Given the description of an element on the screen output the (x, y) to click on. 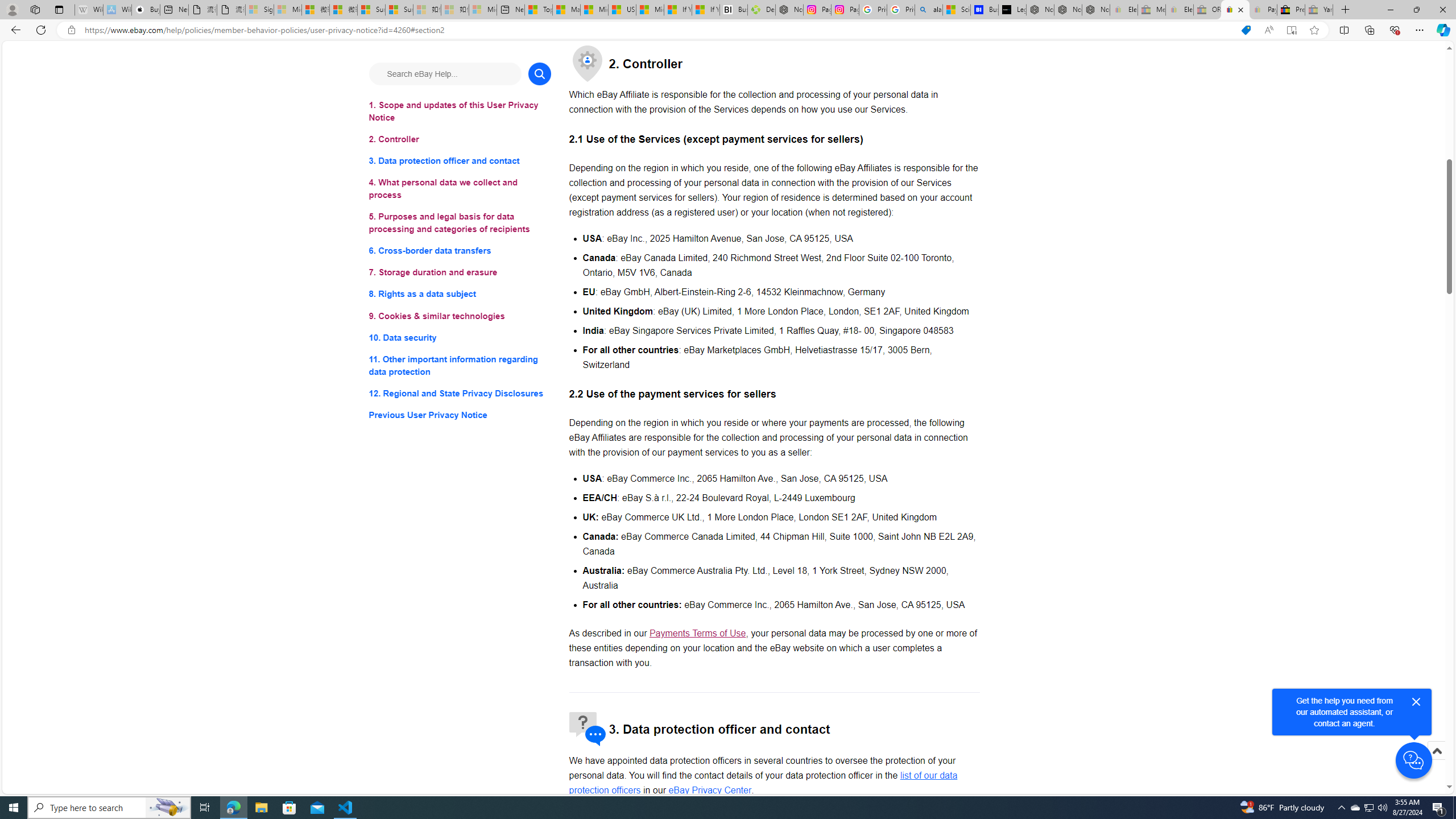
10. Data security (459, 336)
11. Other important information regarding data protection (459, 365)
11. Other important information regarding data protection (459, 365)
12. Regional and State Privacy Disclosures (459, 392)
7. Storage duration and erasure (459, 272)
10. Data security (459, 336)
